Given the description of an element on the screen output the (x, y) to click on. 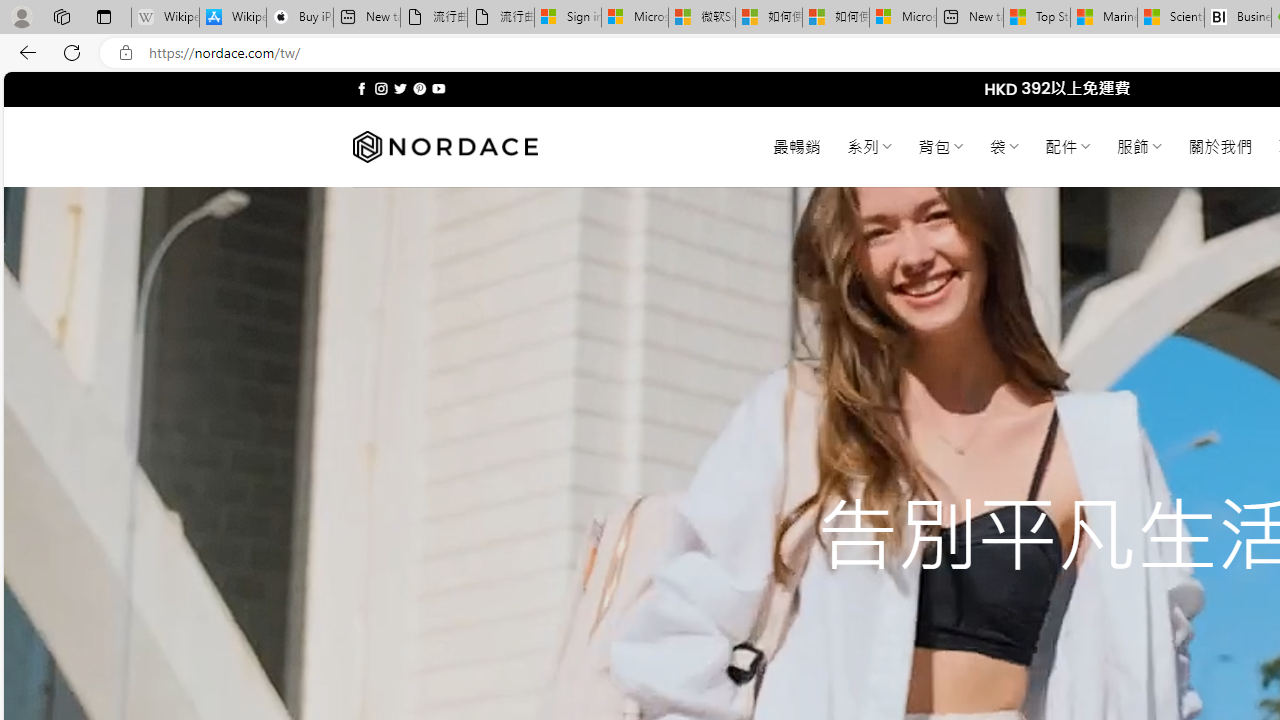
Follow on YouTube (438, 88)
